Given the description of an element on the screen output the (x, y) to click on. 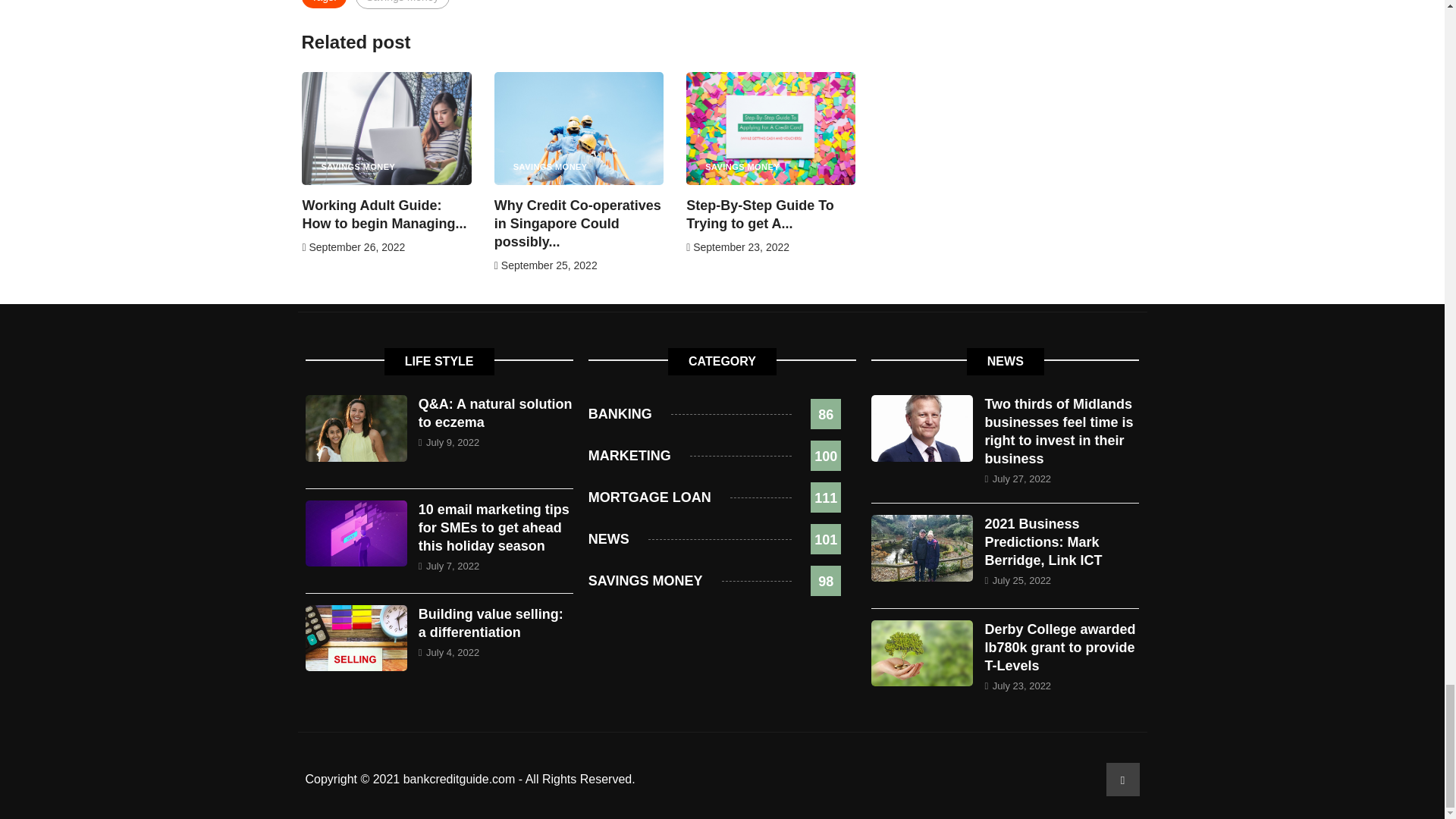
SAVINGS MONEY (742, 165)
Savings Money (402, 4)
Building value selling: a differentiation (491, 622)
SAVINGS MONEY (358, 165)
SAVINGS MONEY (550, 165)
Why Credit Co-operatives in Singapore Could possibly... (578, 223)
Step-By-Step Guide To Trying to get A... (759, 214)
Working Adult Guide: How to begin Managing... (383, 214)
